Given the description of an element on the screen output the (x, y) to click on. 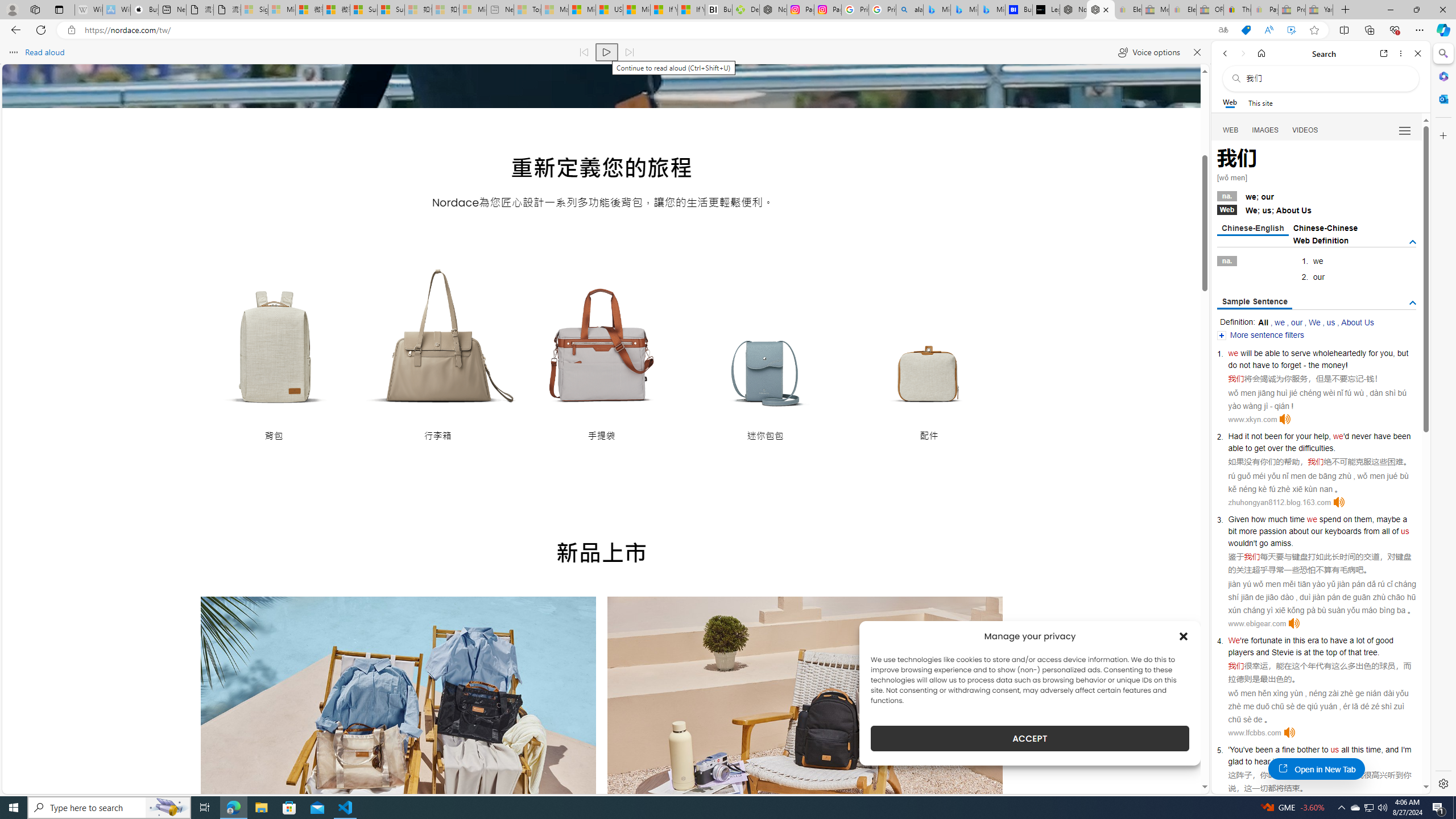
we (1312, 519)
Payments Terms of Use | eBay.com - Sleeping (1264, 9)
Microsoft Services Agreement - Sleeping (281, 9)
a bit (1316, 524)
Continue to read aloud (Ctrl+Shift+U) (606, 52)
help (1321, 435)
our (1296, 322)
